Given the description of an element on the screen output the (x, y) to click on. 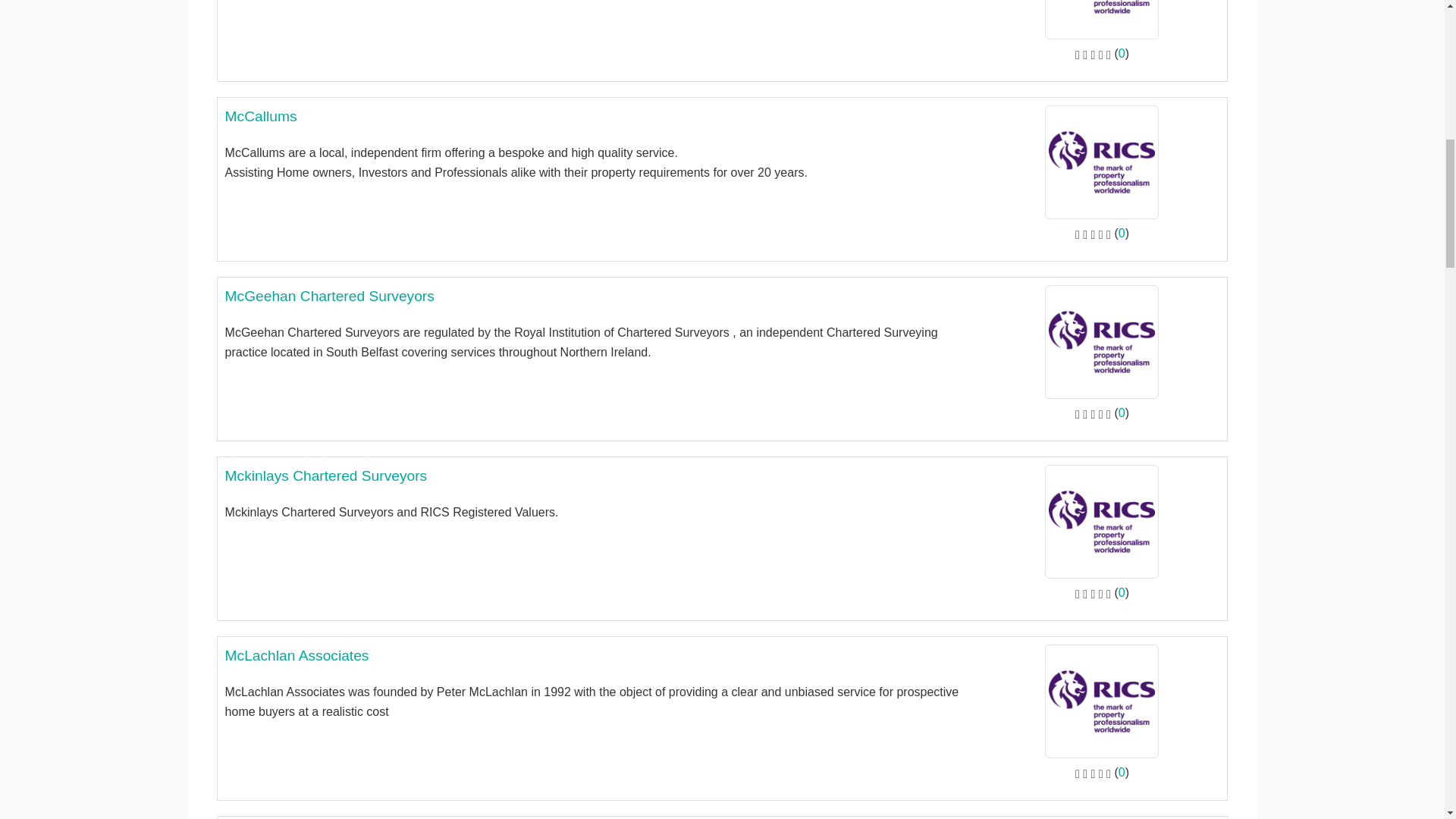
Not rated yet! (1092, 53)
